Given the description of an element on the screen output the (x, y) to click on. 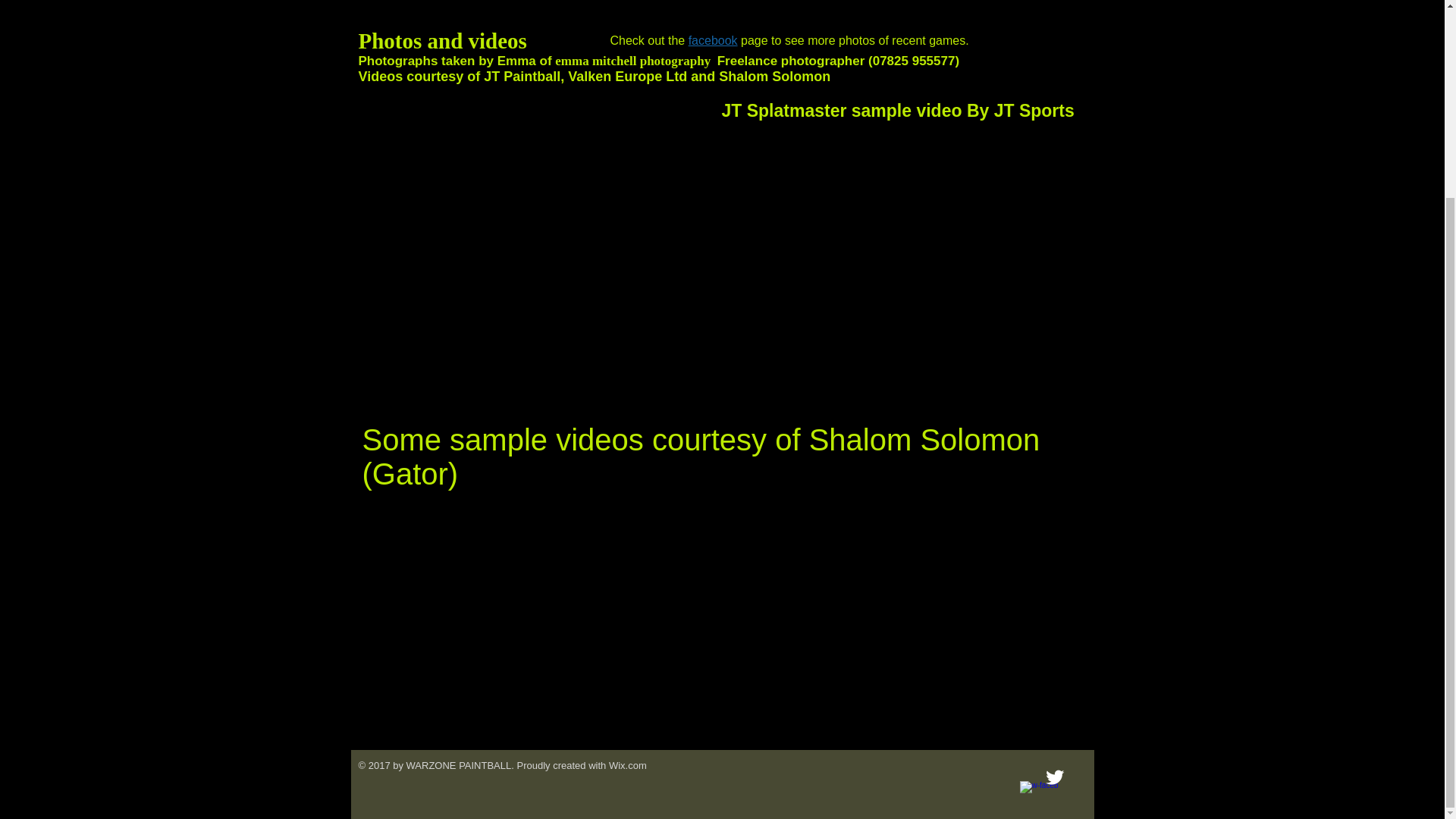
External YouTube (534, 618)
External YouTube (904, 228)
facebook (713, 40)
External YouTube (896, 618)
Wix.com (627, 765)
